Given the description of an element on the screen output the (x, y) to click on. 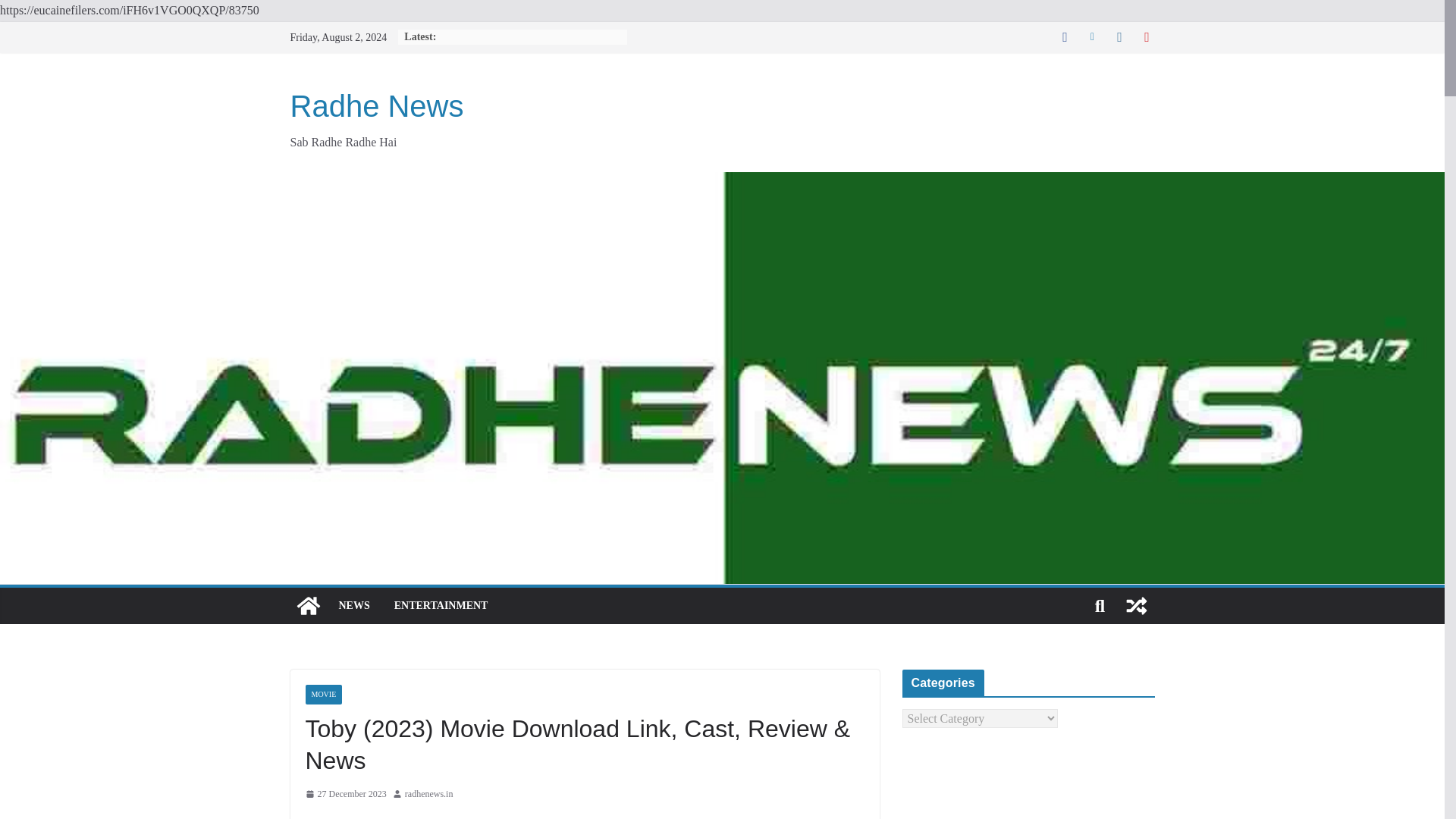
NEWS (353, 605)
Radhe News (307, 606)
View a random post (1136, 606)
Radhe News (376, 105)
27 December 2023 (344, 794)
radhenews.in (428, 794)
MOVIE (323, 694)
Radhe News (376, 105)
radhenews.in (428, 794)
08:28 (344, 794)
ENTERTAINMENT (440, 605)
